Given the description of an element on the screen output the (x, y) to click on. 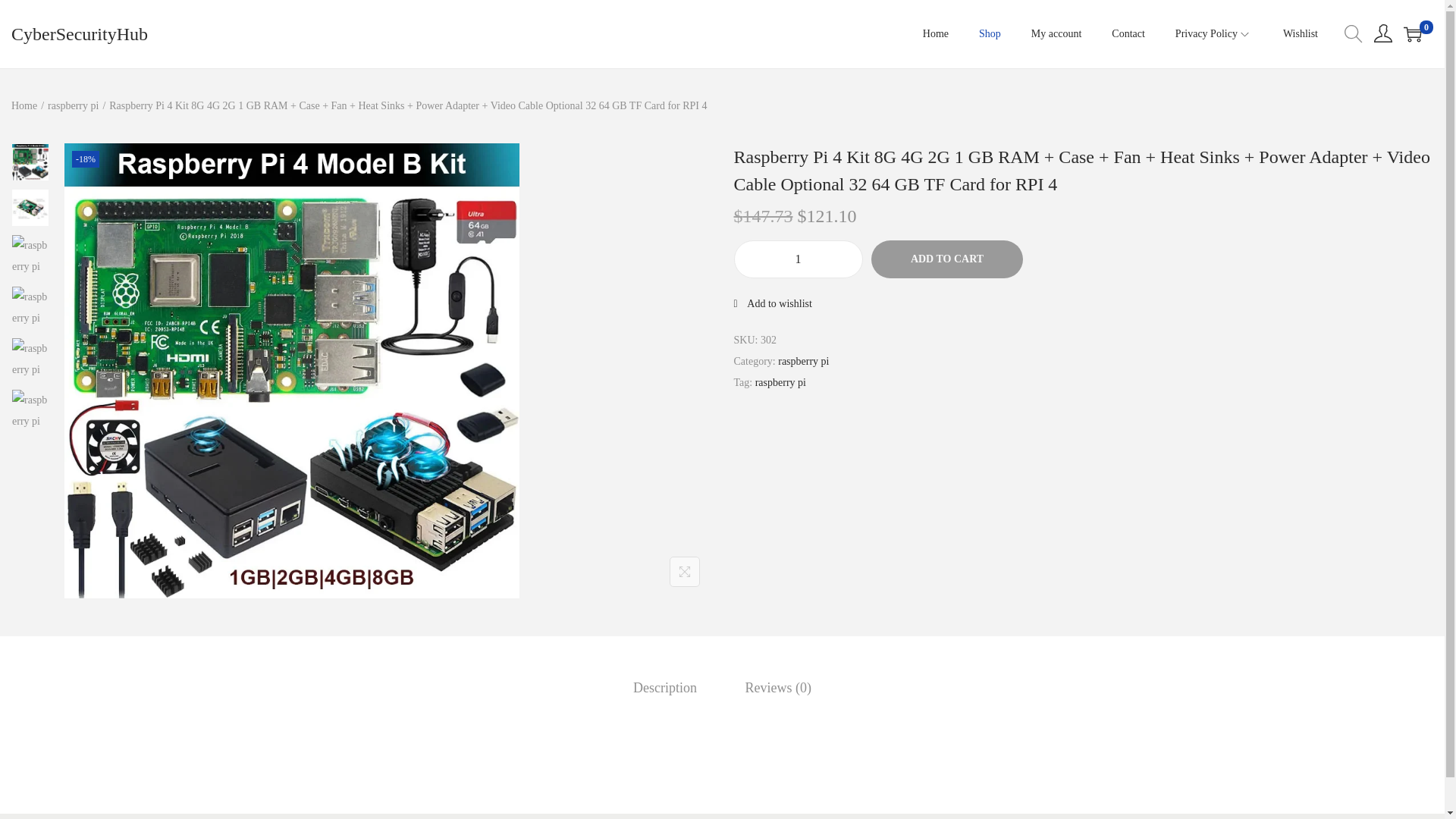
CyberSecurityHub (79, 34)
Description (665, 687)
raspberry pi (73, 105)
0 (1412, 34)
Privacy Policy (1213, 33)
Add to wishlist (772, 303)
raspberry pi (802, 360)
raspberry pi (780, 382)
Home (24, 105)
1 (797, 259)
ADD TO CART (946, 259)
